Given the description of an element on the screen output the (x, y) to click on. 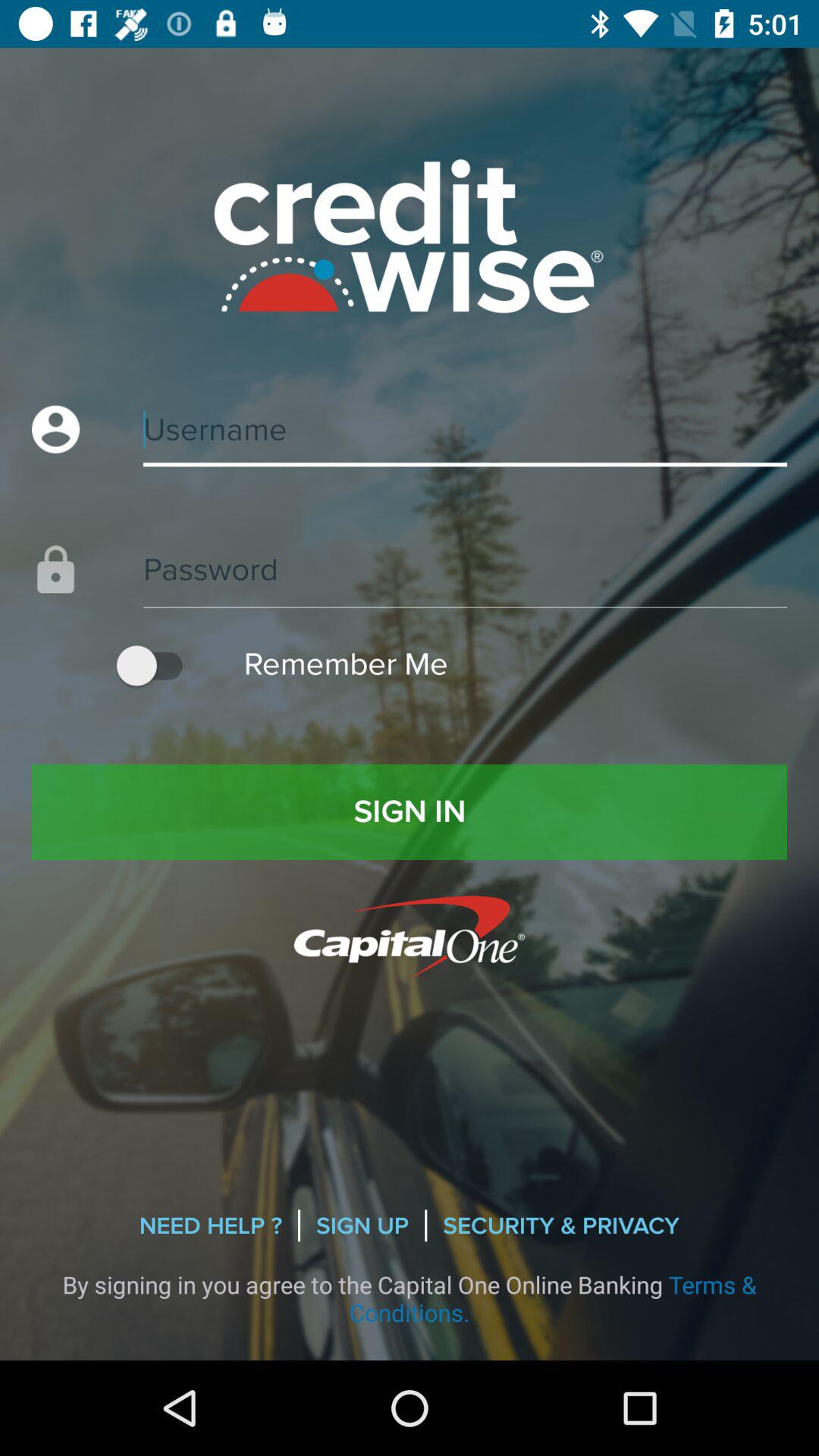
click need help ? item (210, 1225)
